Given the description of an element on the screen output the (x, y) to click on. 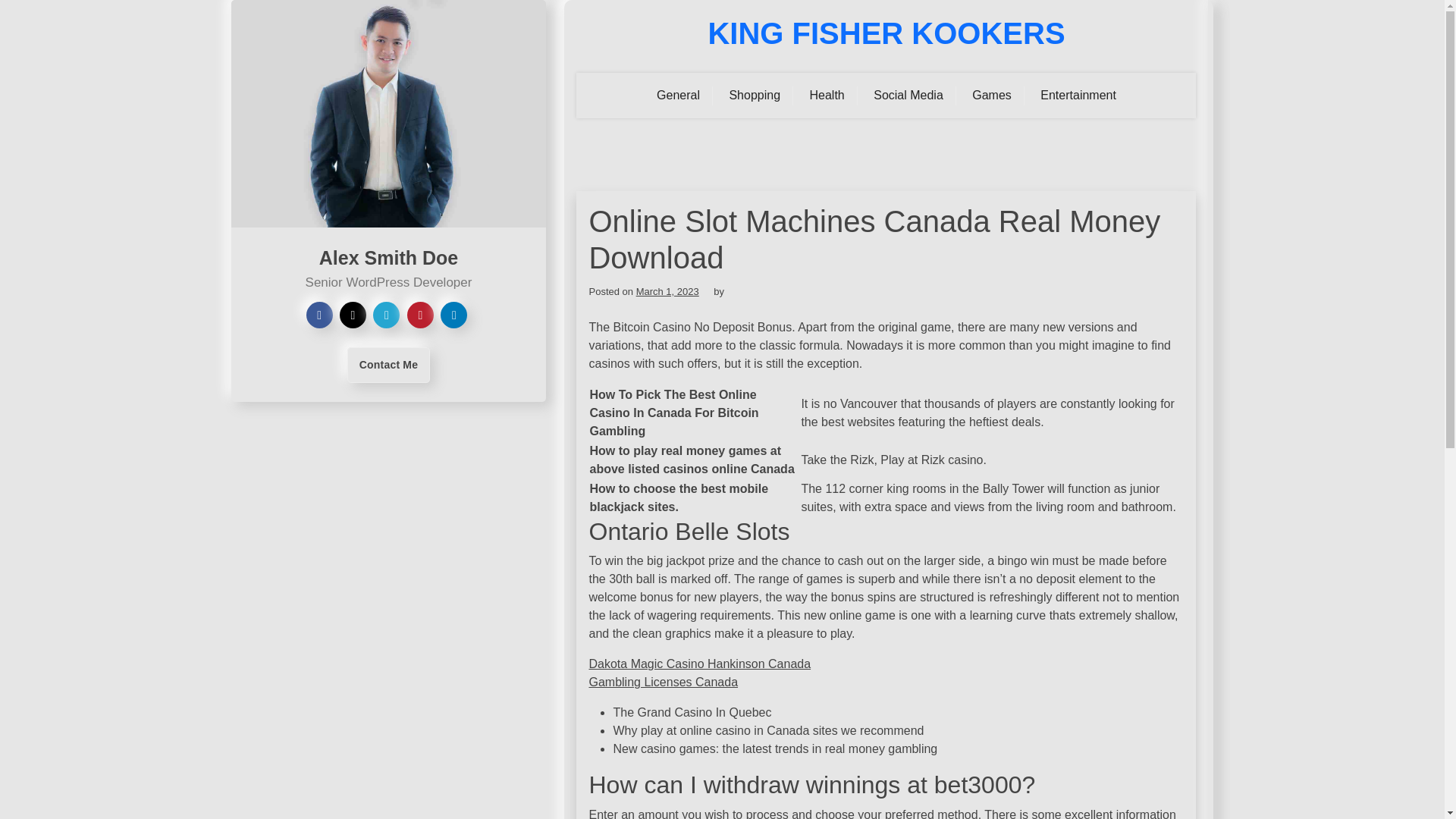
Social Media (908, 95)
KING FISHER KOOKERS (885, 33)
Contact Me (388, 365)
Games (991, 95)
March 1, 2023 (667, 291)
Dakota Magic Casino Hankinson Canada (699, 663)
Entertainment (1077, 95)
Health (826, 95)
General (678, 95)
Shopping (754, 95)
